Given the description of an element on the screen output the (x, y) to click on. 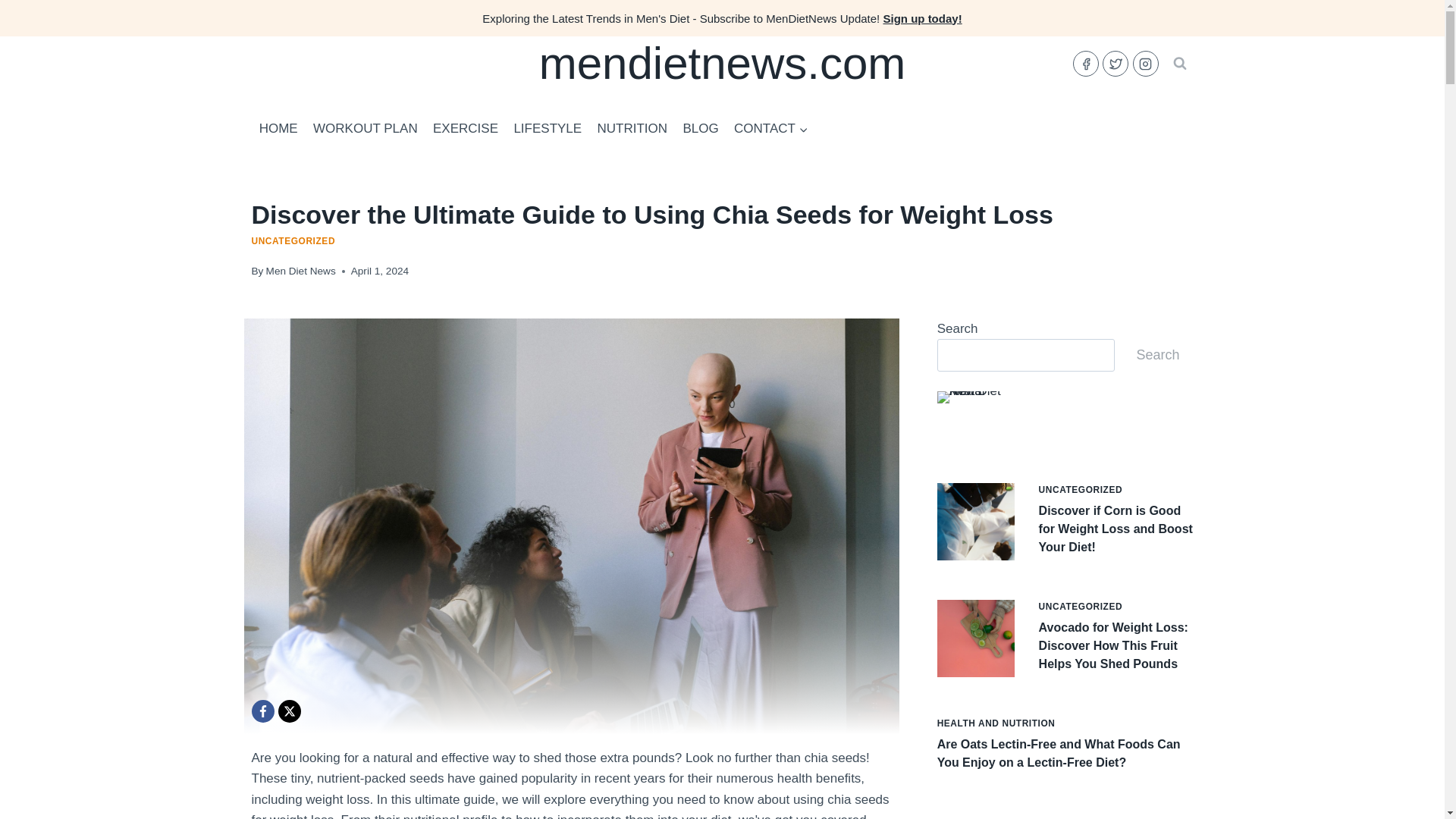
HOME (278, 128)
CONTACT (770, 128)
UNCATEGORIZED (293, 240)
LIFESTYLE (547, 128)
EXERCISE (465, 128)
Sign up today! (921, 18)
WORKOUT PLAN (365, 128)
NUTRITION (632, 128)
BLOG (700, 128)
Sign up today! (921, 18)
mendietnews.com (721, 63)
Men Diet News (301, 270)
